Given the description of an element on the screen output the (x, y) to click on. 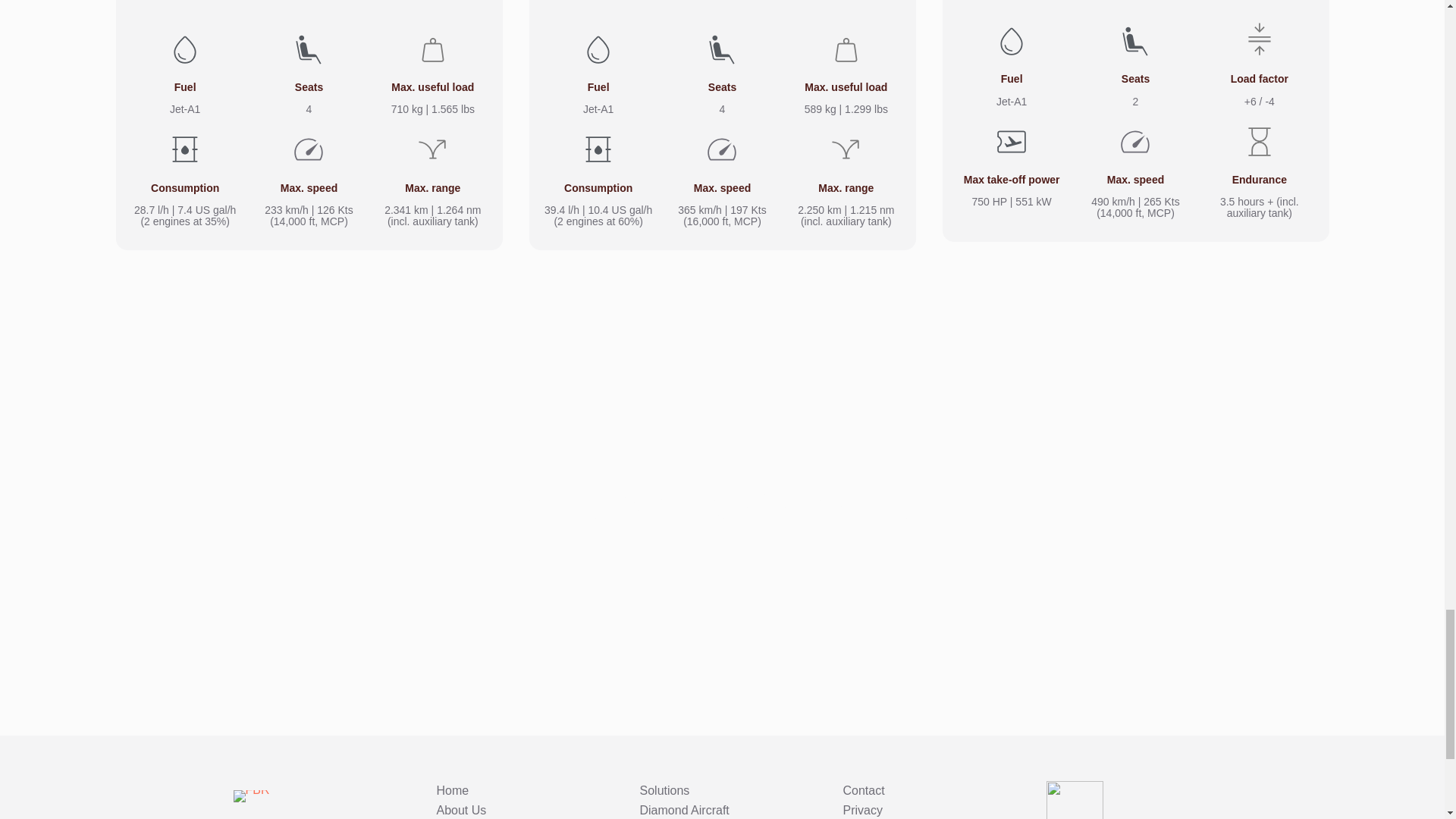
Diamond Aircraft (684, 809)
About Us (461, 809)
Privacy (862, 809)
Home (452, 789)
Solutions (665, 789)
Contact (864, 789)
